Given the description of an element on the screen output the (x, y) to click on. 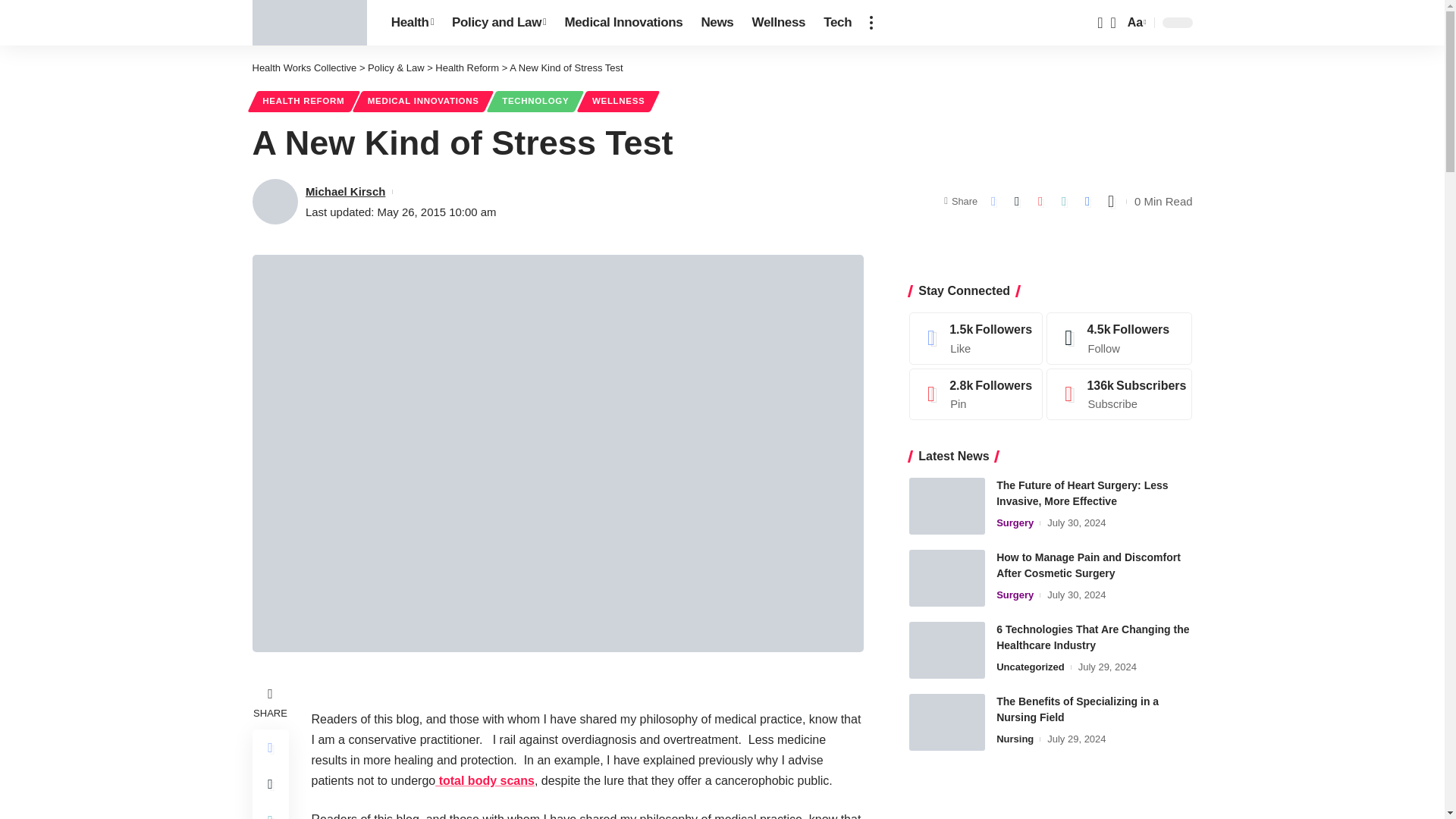
6 Technologies That Are Changing the Healthcare Industry (946, 649)
Health (411, 22)
How to Manage Pain and Discomfort After Cosmetic Surgery (946, 577)
News (716, 22)
Go to the Health Reform Category archives. (467, 67)
Tech (836, 22)
Medical Innovations (622, 22)
The Benefits of Specializing in a Nursing Field (946, 722)
The Future of Heart Surgery: Less Invasive, More Effective (946, 505)
Policy and Law (498, 22)
Wellness (778, 22)
Go to Health Works Collective. (303, 67)
Health Works Collective (308, 22)
